Given the description of an element on the screen output the (x, y) to click on. 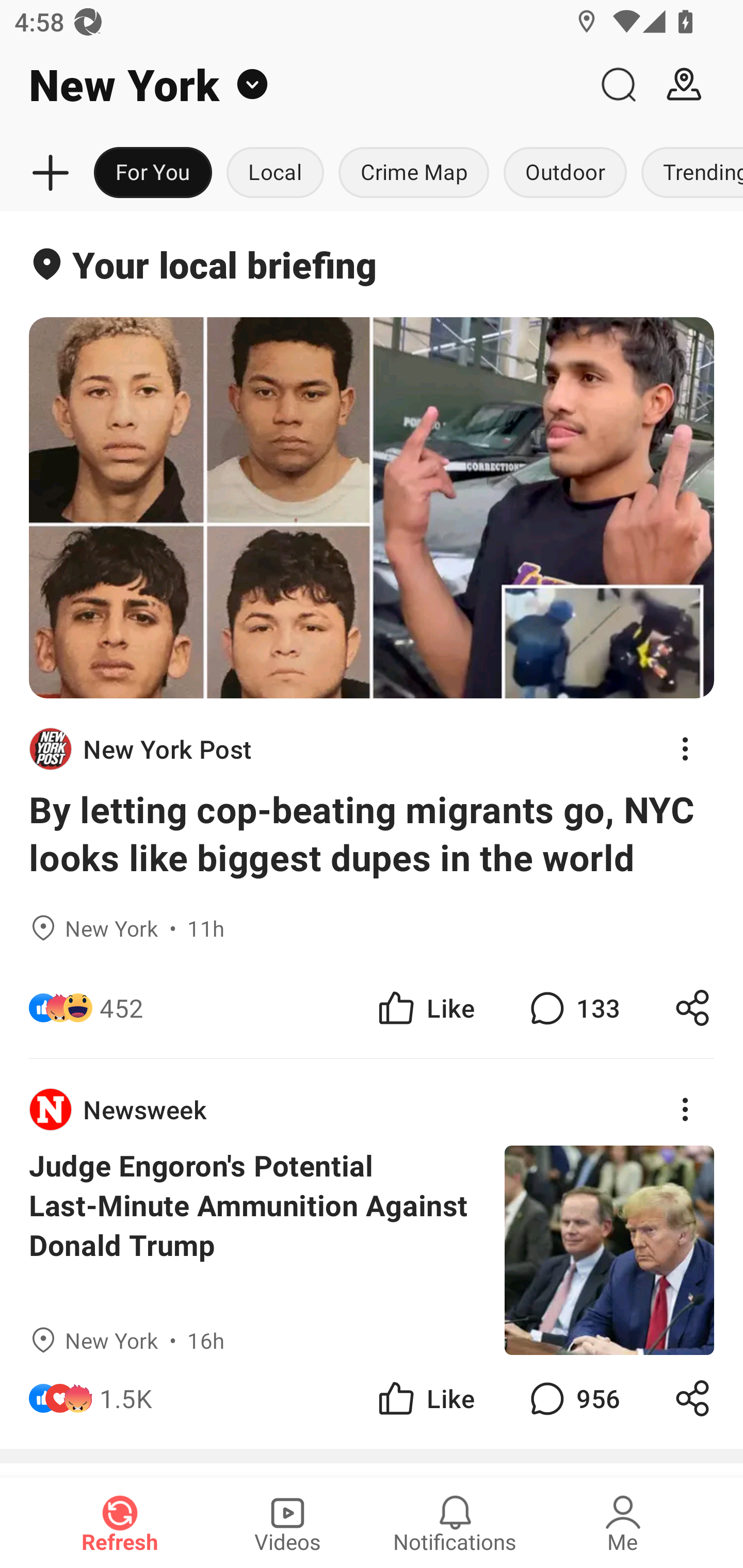
New York (292, 84)
For You (152, 172)
Local (275, 172)
Crime Map (413, 172)
Outdoor (564, 172)
Trending (688, 172)
452 (121, 1007)
Like (425, 1007)
133 (572, 1007)
1.5K (125, 1397)
Like (425, 1397)
956 (572, 1397)
Videos (287, 1522)
Notifications (455, 1522)
Me (622, 1522)
